Given the description of an element on the screen output the (x, y) to click on. 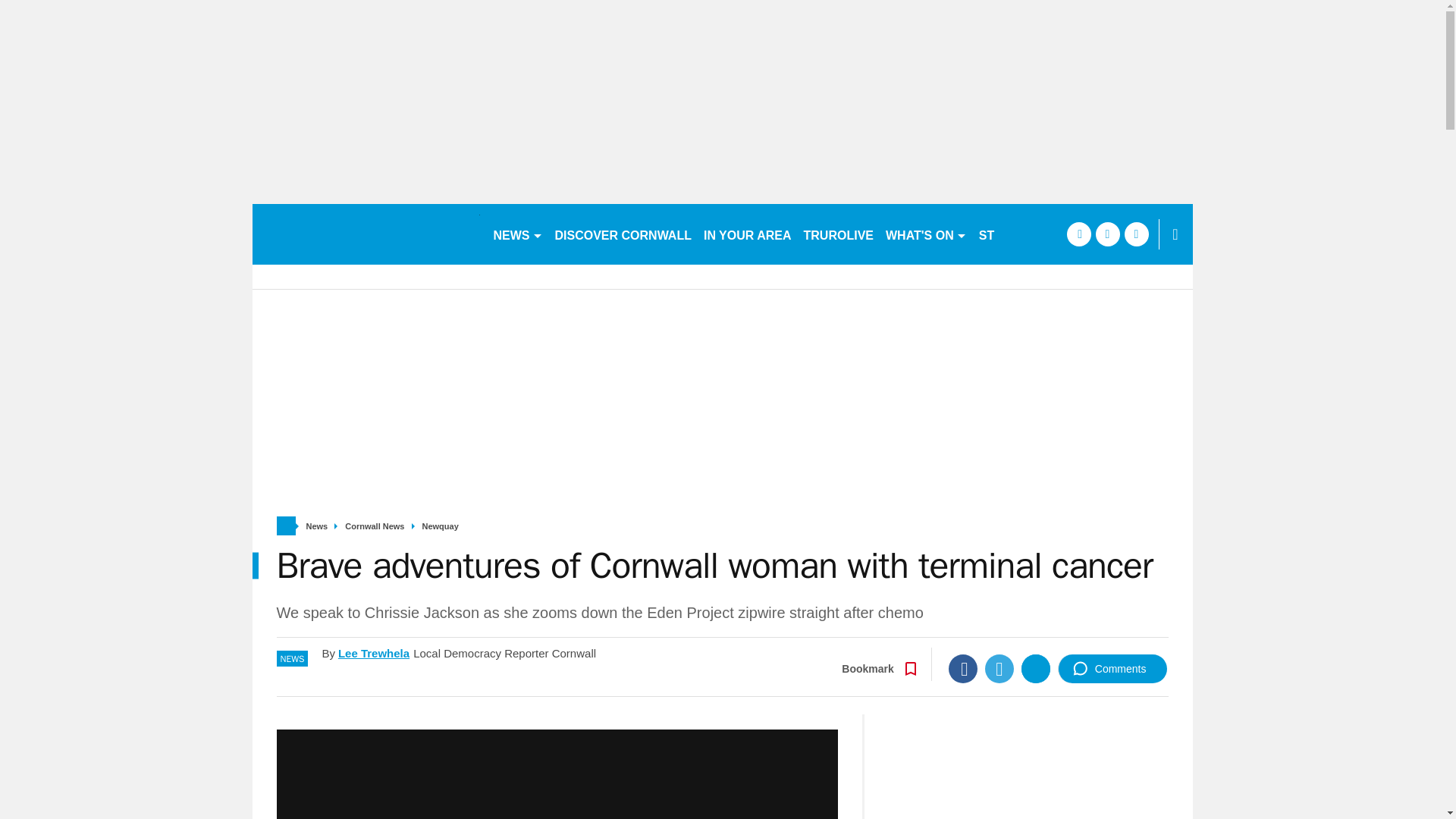
WHAT'S ON (925, 233)
cornwalllive (365, 233)
instagram (1136, 233)
IN YOUR AREA (747, 233)
Comments (1112, 668)
TRUROLIVE (838, 233)
NEWS (517, 233)
twitter (1106, 233)
facebook (1077, 233)
ST AUSTELL (1015, 233)
Facebook (962, 668)
DISCOVER CORNWALL (622, 233)
Twitter (999, 668)
